Given the description of an element on the screen output the (x, y) to click on. 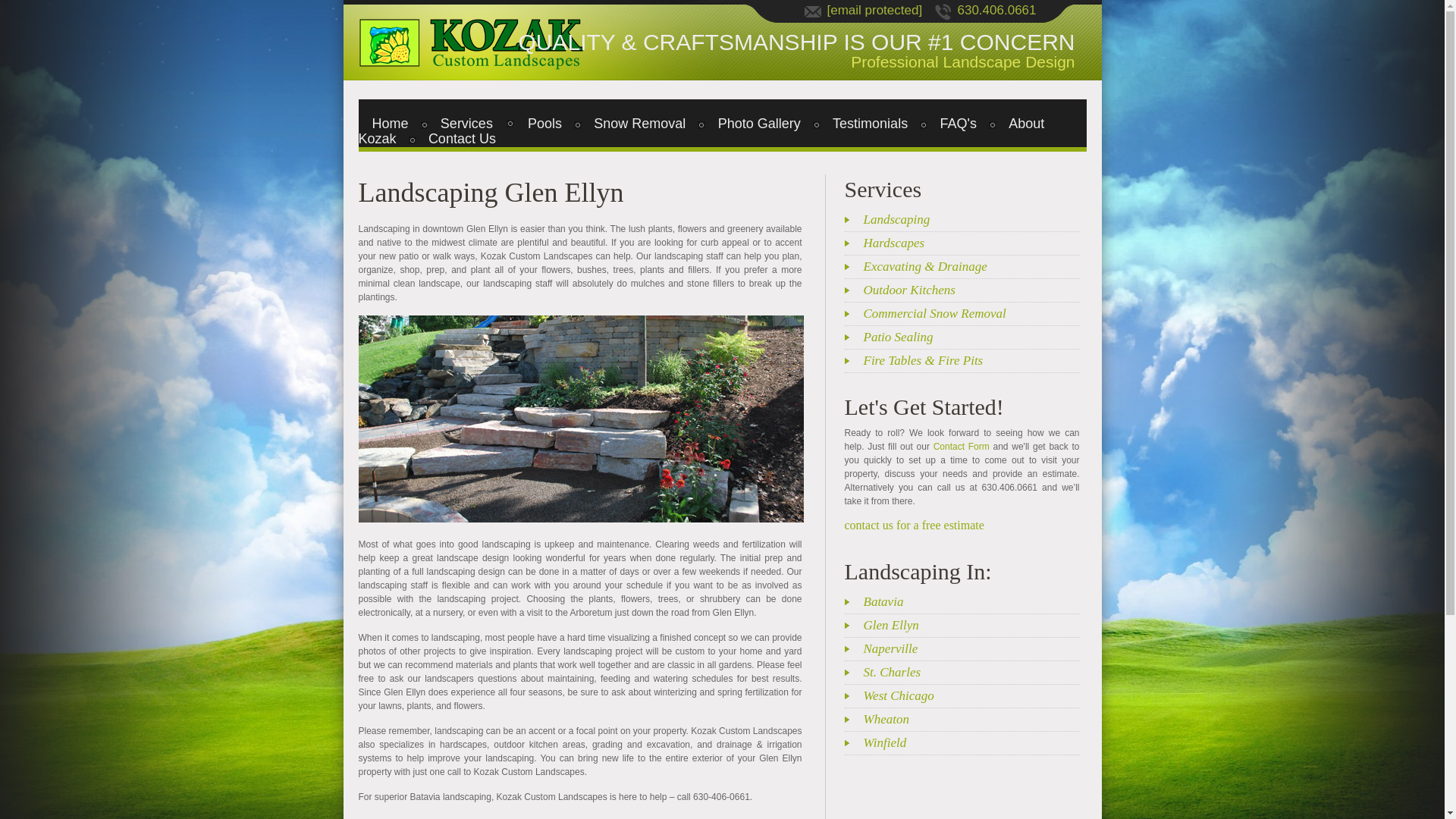
Home (390, 123)
Hardscapes (970, 243)
Photo Gallery (758, 123)
Testimonials (869, 123)
Snow Removal (639, 123)
Pools (545, 123)
Services (466, 123)
contact us for a free estimate (914, 524)
Patio Sealing (970, 336)
Commercial Snow Removal (970, 314)
